Given the description of an element on the screen output the (x, y) to click on. 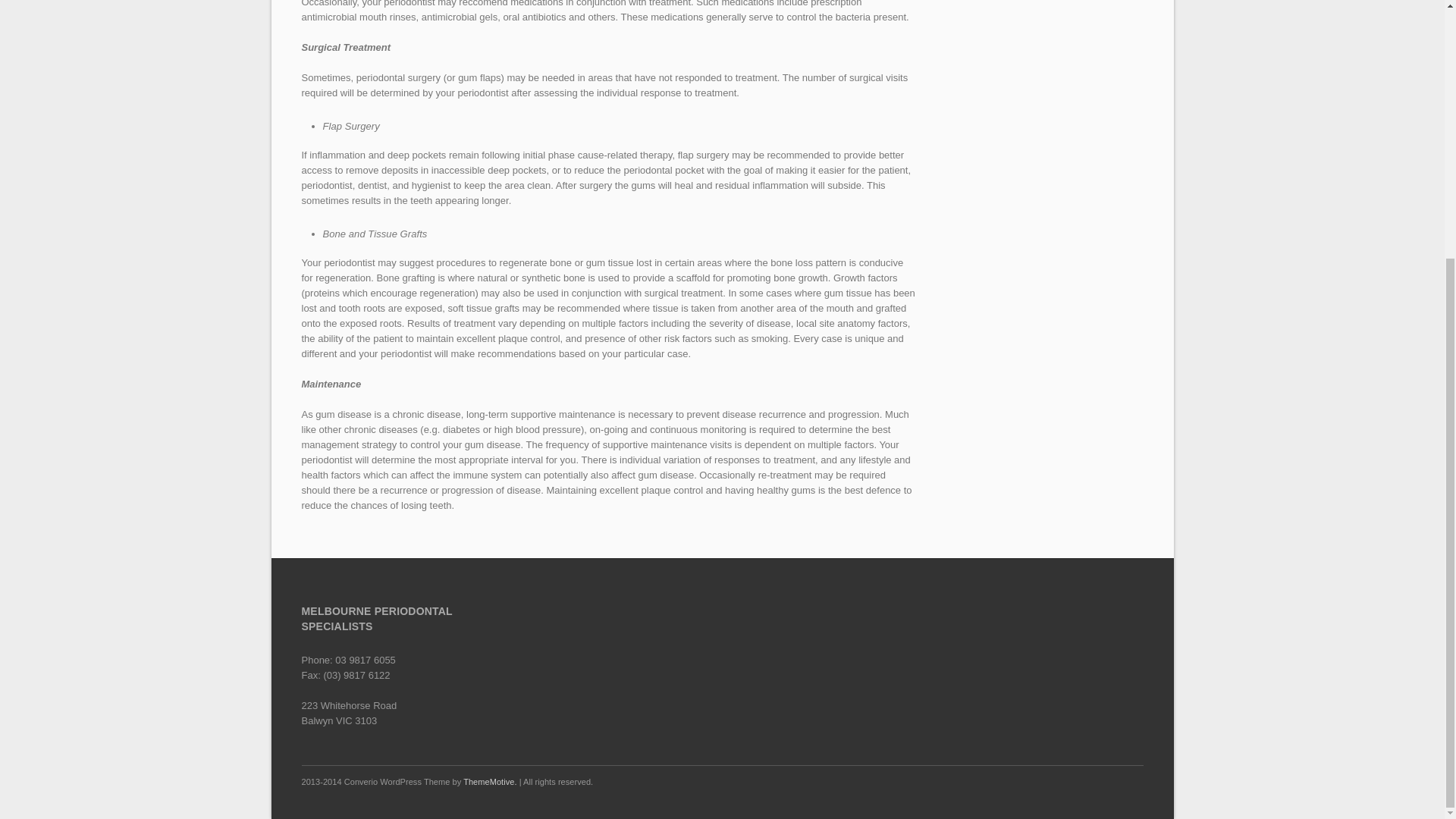
ThemeMotive. (489, 781)
